Given the description of an element on the screen output the (x, y) to click on. 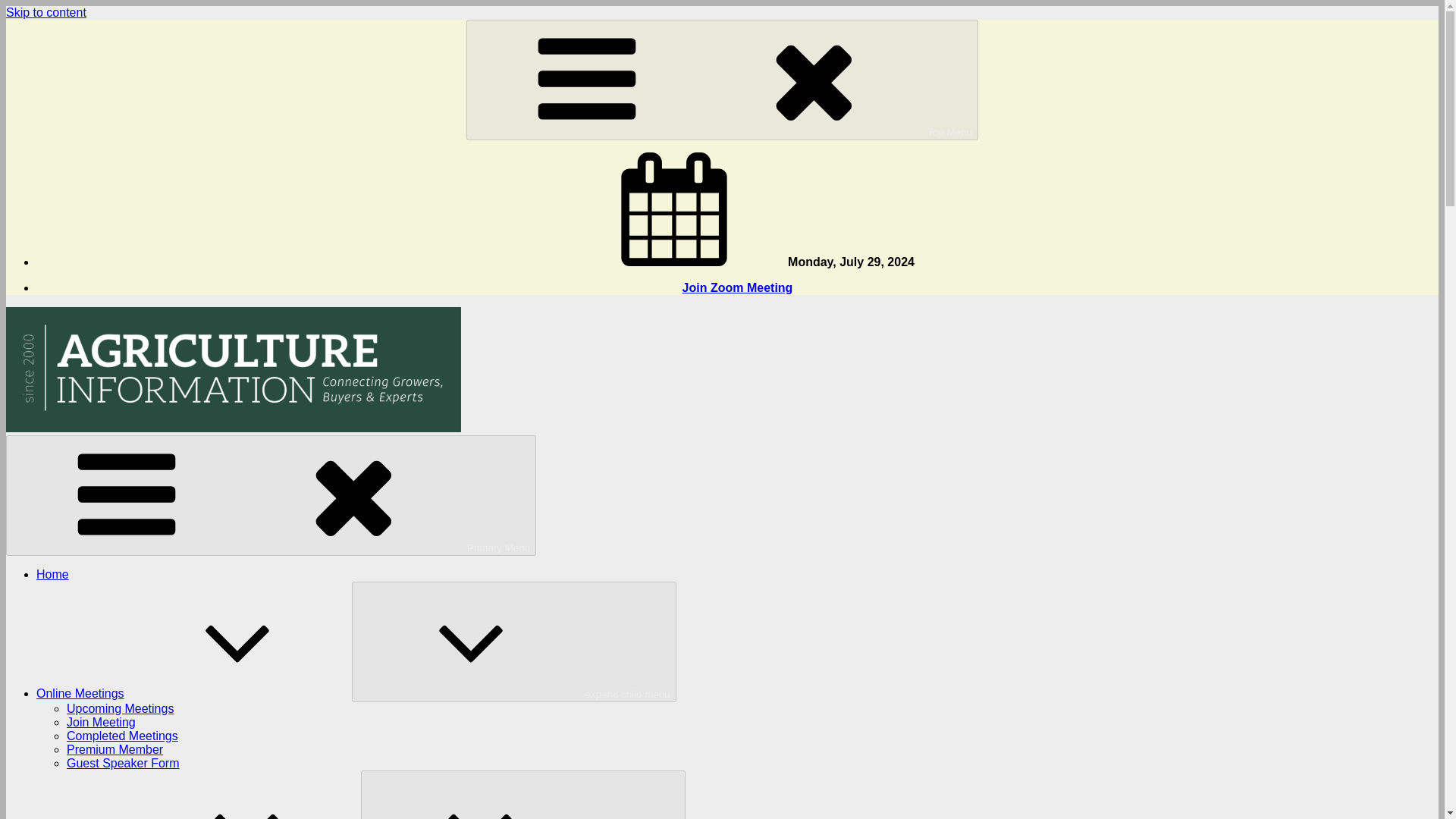
Premium Member (114, 748)
Home (52, 574)
Online Meetings (194, 693)
Completed Meetings (121, 735)
Guest Speaker Form (122, 762)
expand child menu (523, 794)
Join Meeting (100, 721)
AgricultureInformation.com (78, 453)
Upcoming Meetings (119, 707)
Top Menu (721, 79)
Skip to content (45, 11)
Join Zoom Meeting (737, 287)
expand child menu (514, 641)
Primary Menu (270, 495)
